Given the description of an element on the screen output the (x, y) to click on. 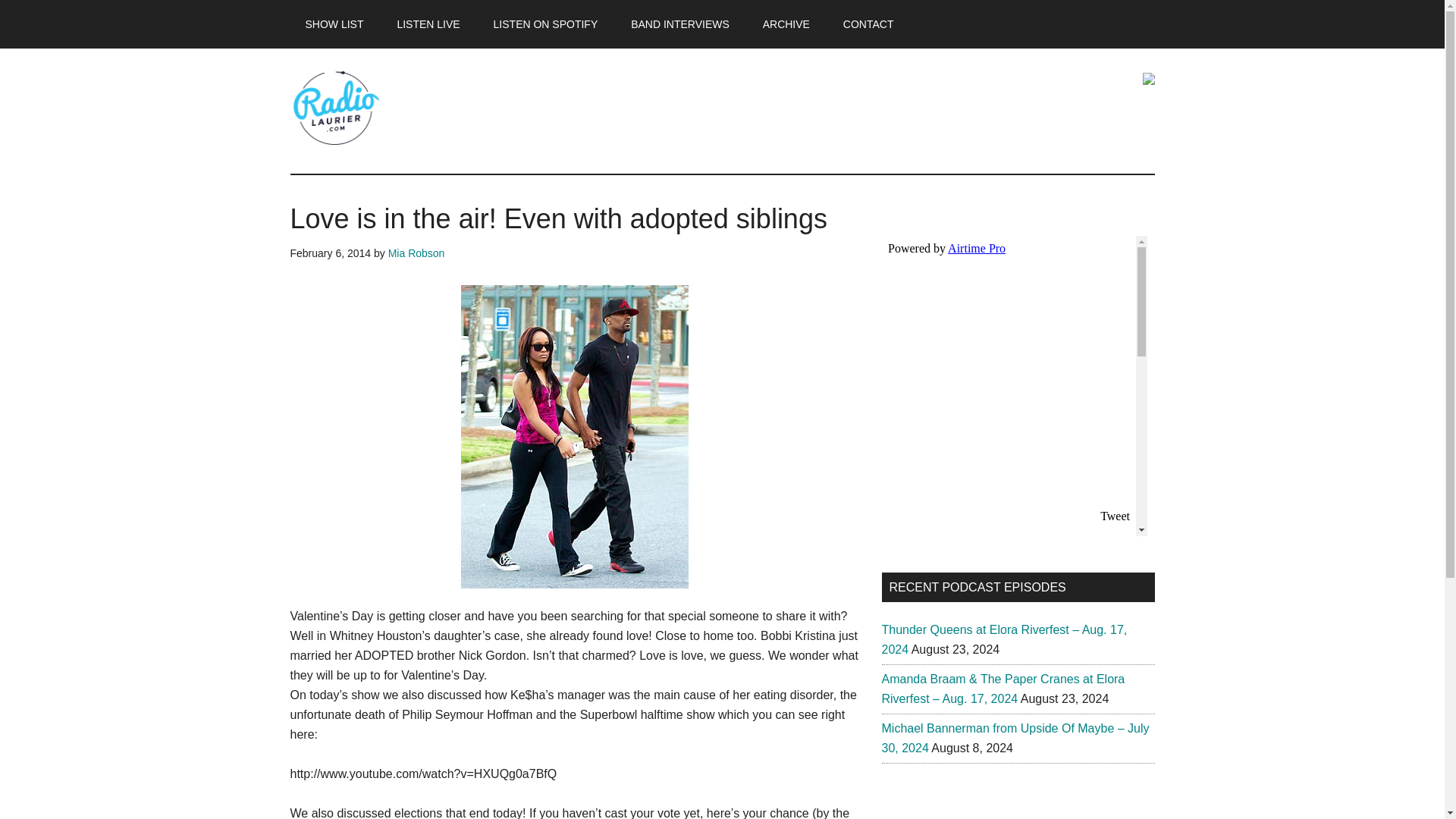
CONTACT (868, 24)
ARCHIVE (786, 24)
LISTEN ON SPOTIFY (545, 24)
BAND INTERVIEWS (679, 24)
SHOW LIST (333, 24)
LISTEN LIVE (427, 24)
